Given the description of an element on the screen output the (x, y) to click on. 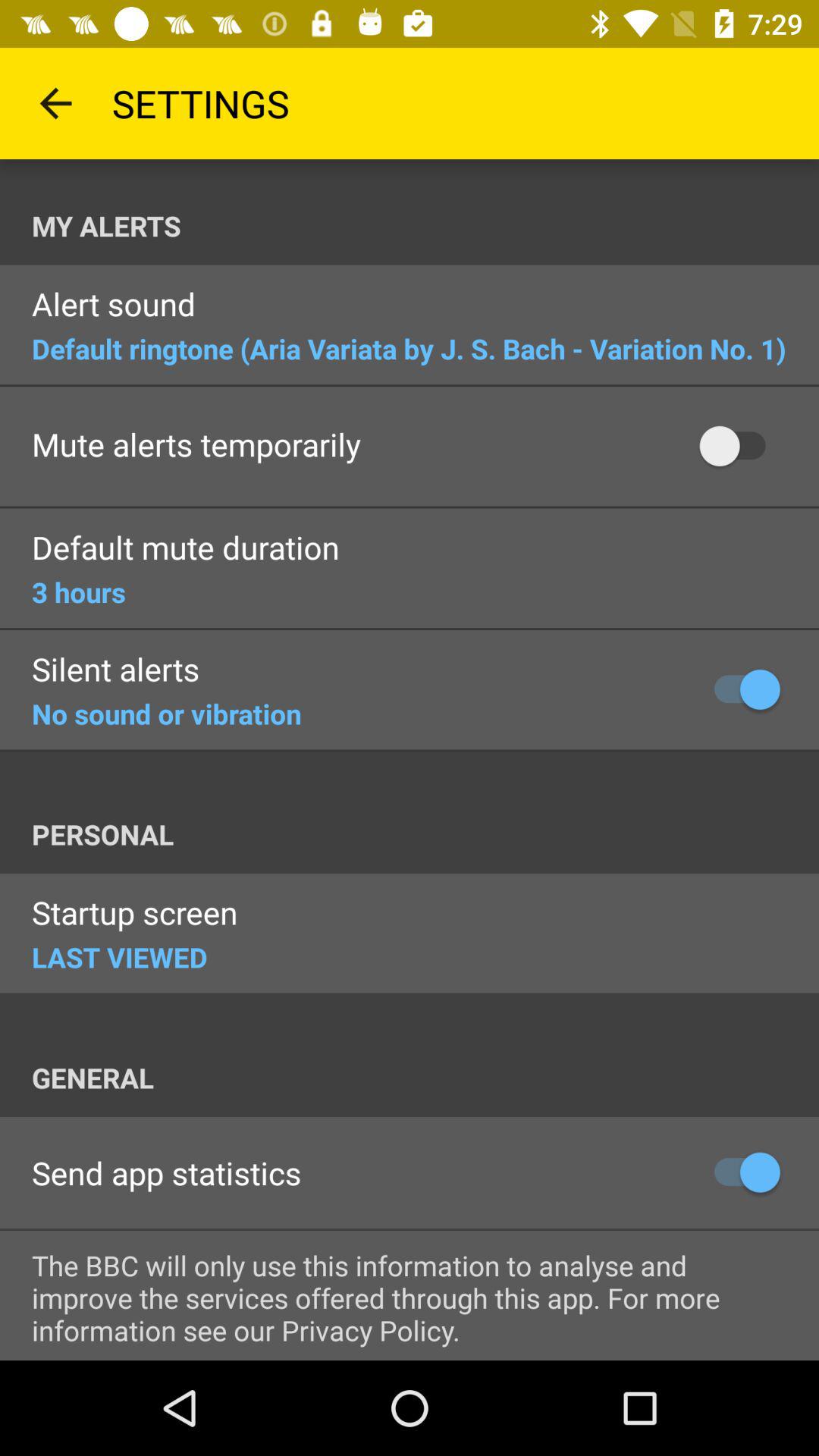
click the startup screen icon (134, 914)
